Given the description of an element on the screen output the (x, y) to click on. 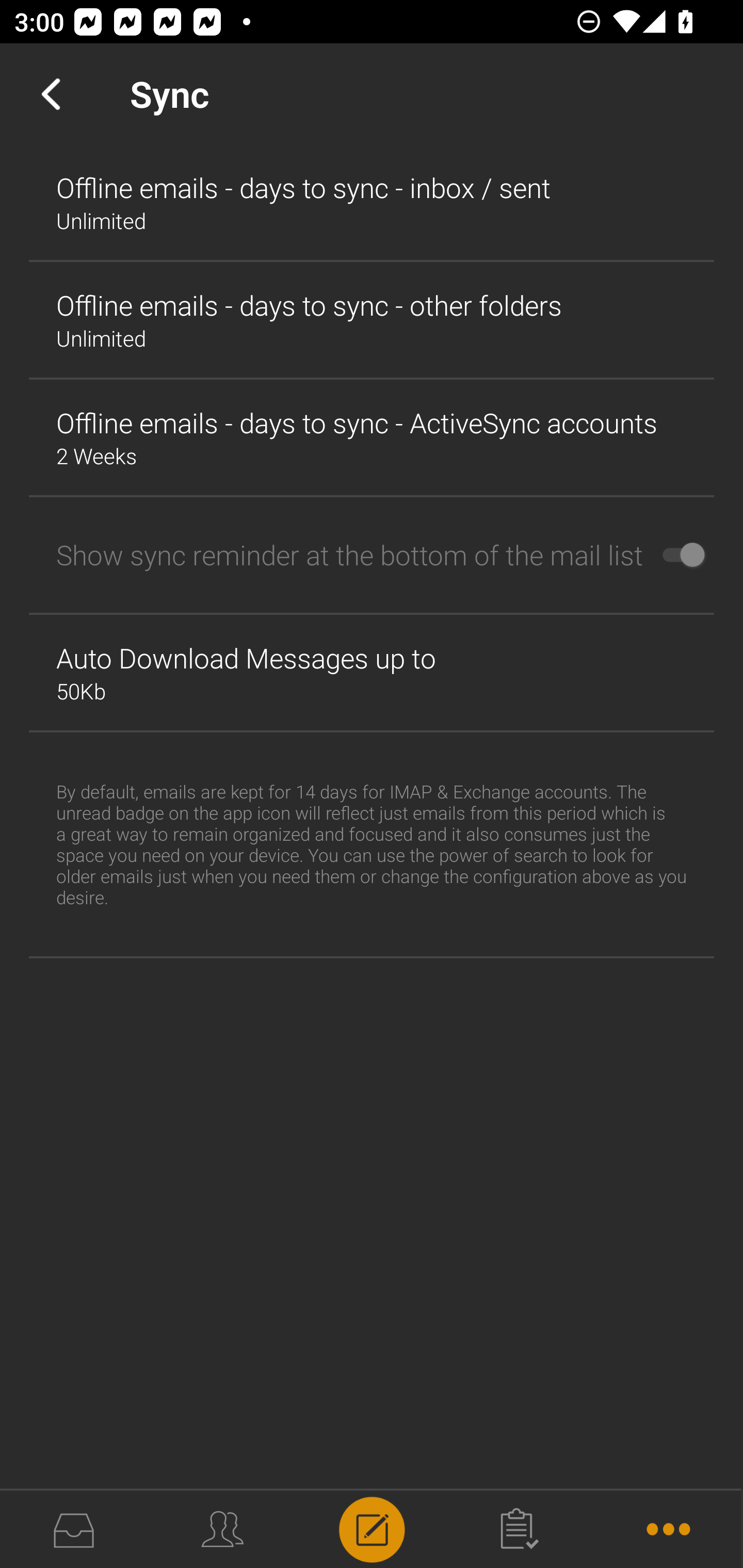
Navigate up (50, 93)
Show sync reminder at the bottom of the mail list (371, 555)
Auto Download Messages up to 50Kb (371, 672)
